Given the description of an element on the screen output the (x, y) to click on. 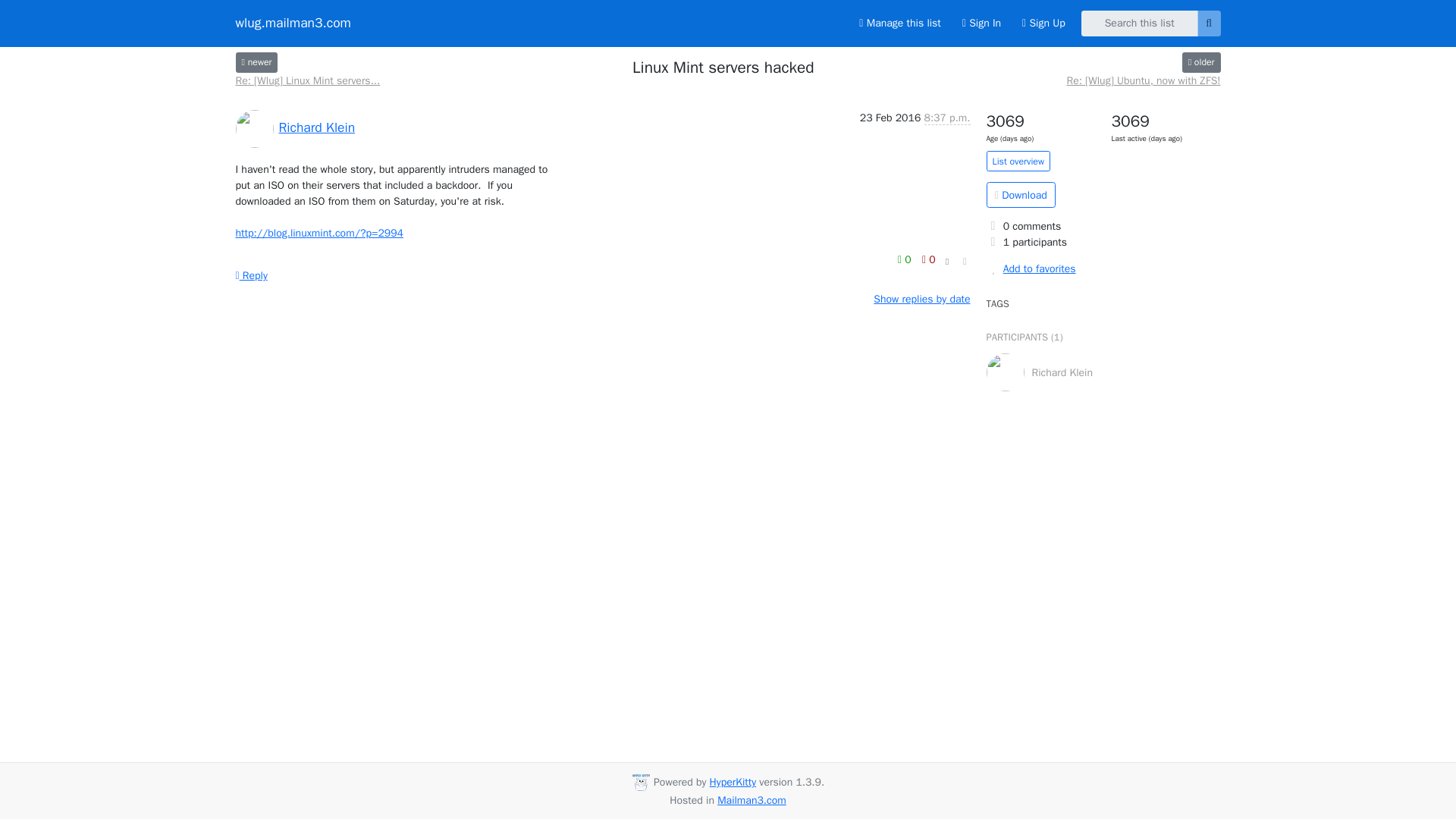
Richard Klein (317, 126)
newer (256, 61)
This thread in gzipped mbox format (1020, 194)
Reply (250, 275)
0 (928, 259)
0 (905, 259)
Mailman3.com (751, 799)
You must be logged-in to have favorites. (1102, 268)
Manage this list (899, 22)
Sender's time: Feb. 23, 2016, 3:37 p.m. (946, 118)
You must be logged-in to vote. (905, 259)
Sign Up (1043, 22)
See the profile for Richard Klein (317, 126)
Sign In (981, 22)
Download (1020, 194)
